Given the description of an element on the screen output the (x, y) to click on. 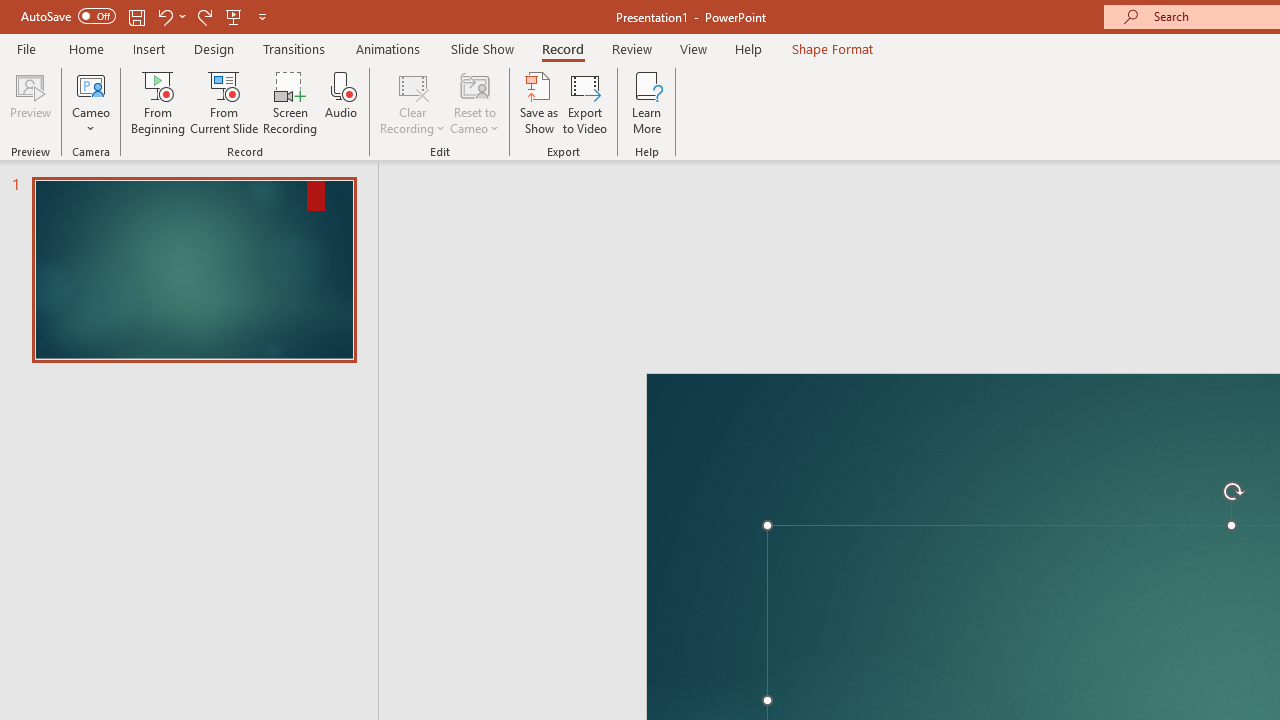
Transitions (294, 48)
More Options (91, 121)
From Beginning... (158, 102)
Cameo (91, 84)
Slide (194, 269)
Design (214, 48)
Clear Recording (412, 102)
Reset to Cameo (474, 102)
Customize Quick Access Toolbar (262, 15)
Cameo (91, 102)
From Current Slide... (224, 102)
File Tab (26, 48)
View (693, 48)
